Given the description of an element on the screen output the (x, y) to click on. 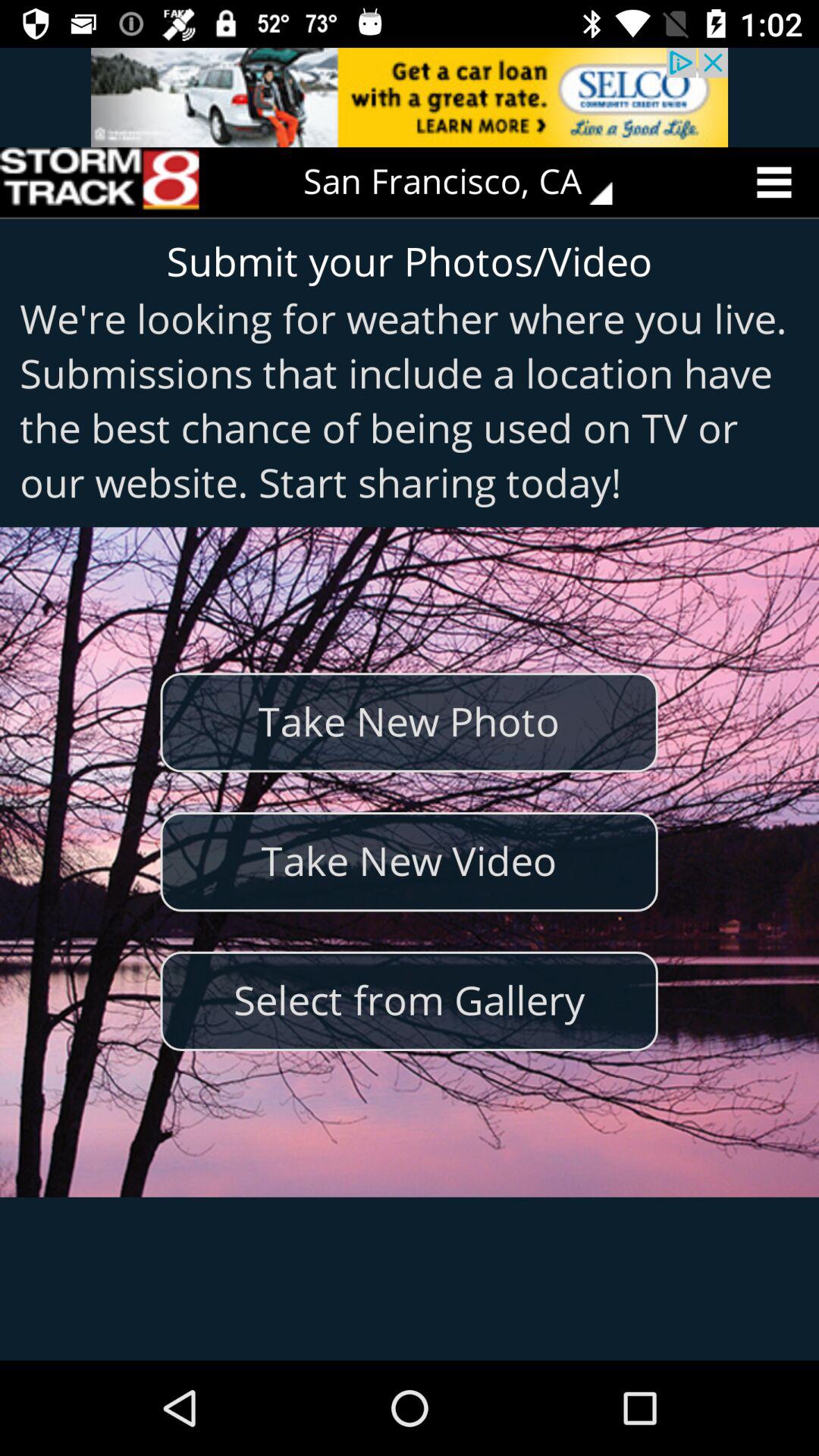
turn on the select from gallery (409, 1001)
